Given the description of an element on the screen output the (x, y) to click on. 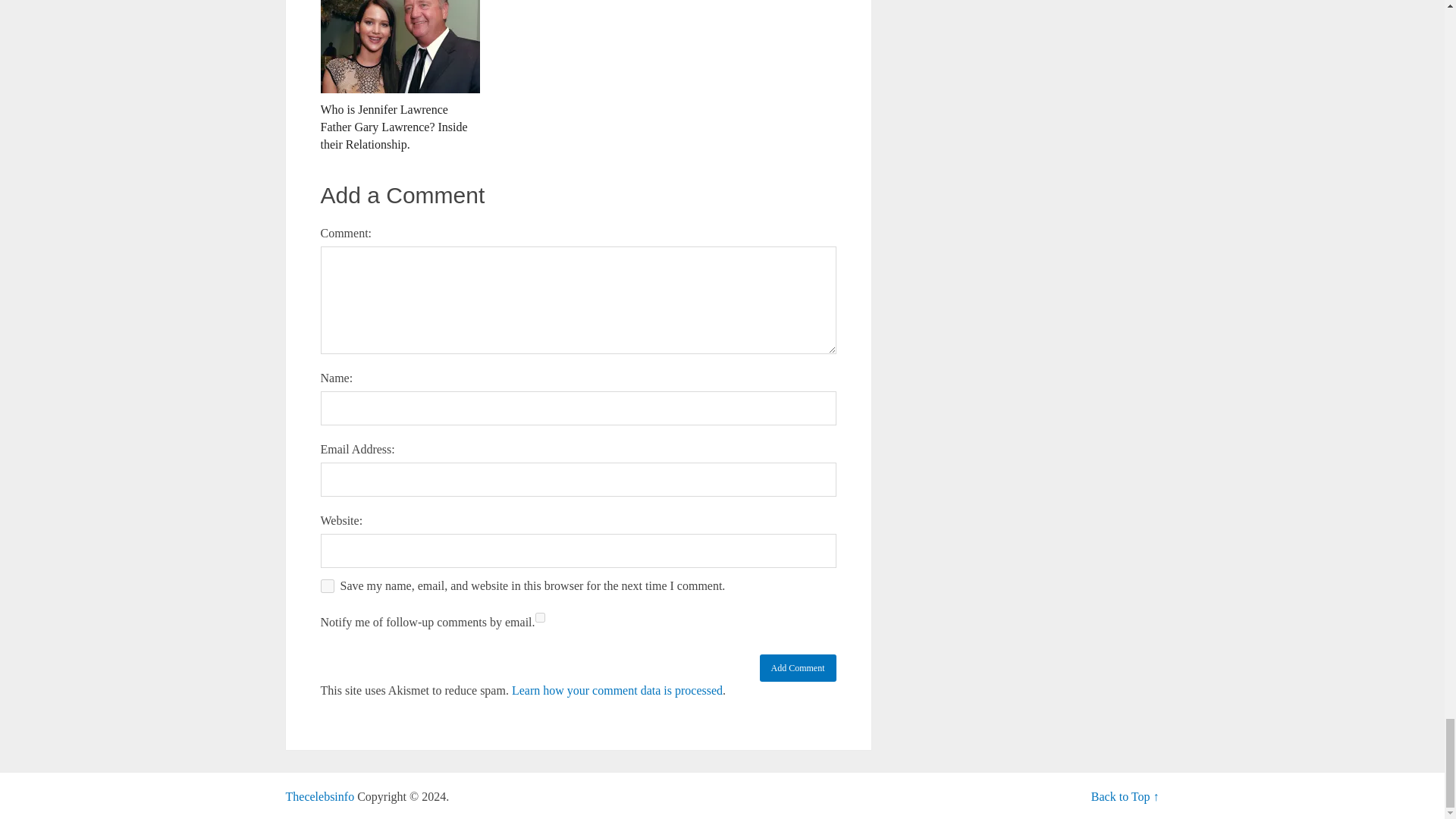
yes (326, 585)
Add Comment (797, 667)
subscribe (539, 617)
News Entertainment Biography (319, 796)
Add Comment (797, 667)
Learn how your comment data is processed (617, 689)
